Given the description of an element on the screen output the (x, y) to click on. 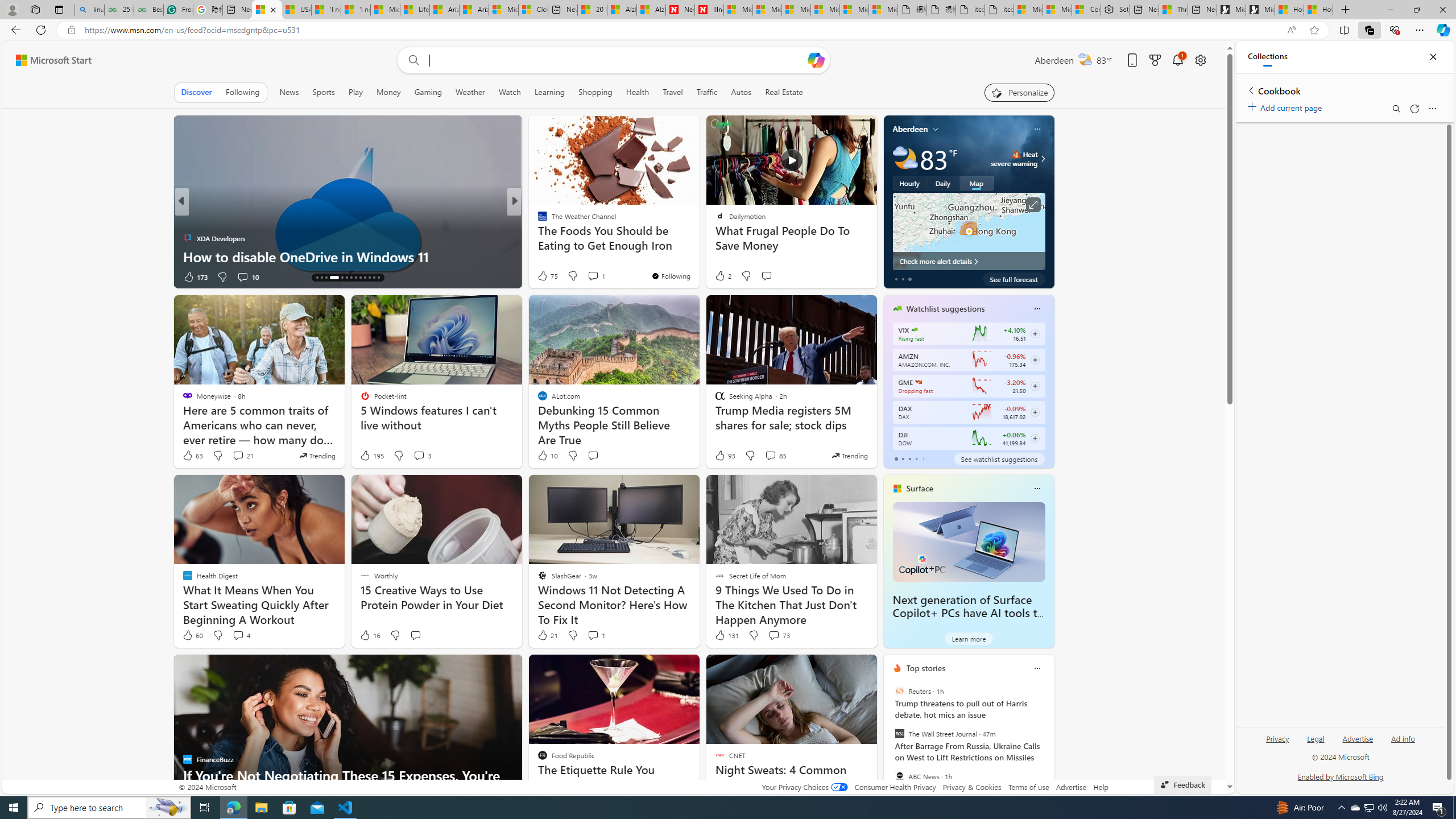
Champagne Living (537, 219)
Watchlist suggestions (945, 308)
ABC News (898, 775)
AutomationID: tab-25 (374, 277)
itconcepthk.com/projector_solutions.mp4 (999, 9)
This story is trending (849, 455)
Back to list of collections (1250, 90)
SlashGear (537, 219)
